Given the description of an element on the screen output the (x, y) to click on. 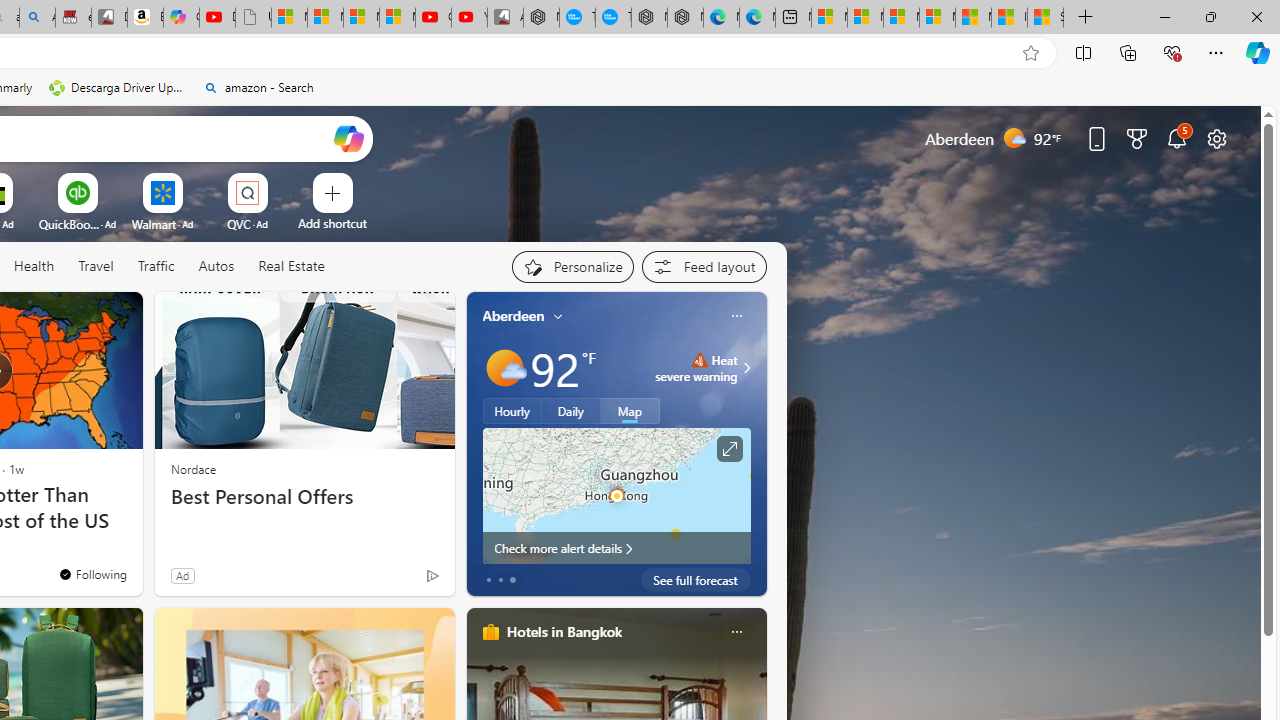
tab-1 (500, 579)
YouTube Kids - An App Created for Kids to Explore Content (469, 17)
Settings and more (Alt+F) (1215, 52)
Descarga Driver Updater (118, 88)
Health (34, 265)
Feed settings (703, 266)
Traffic (155, 267)
